Given the description of an element on the screen output the (x, y) to click on. 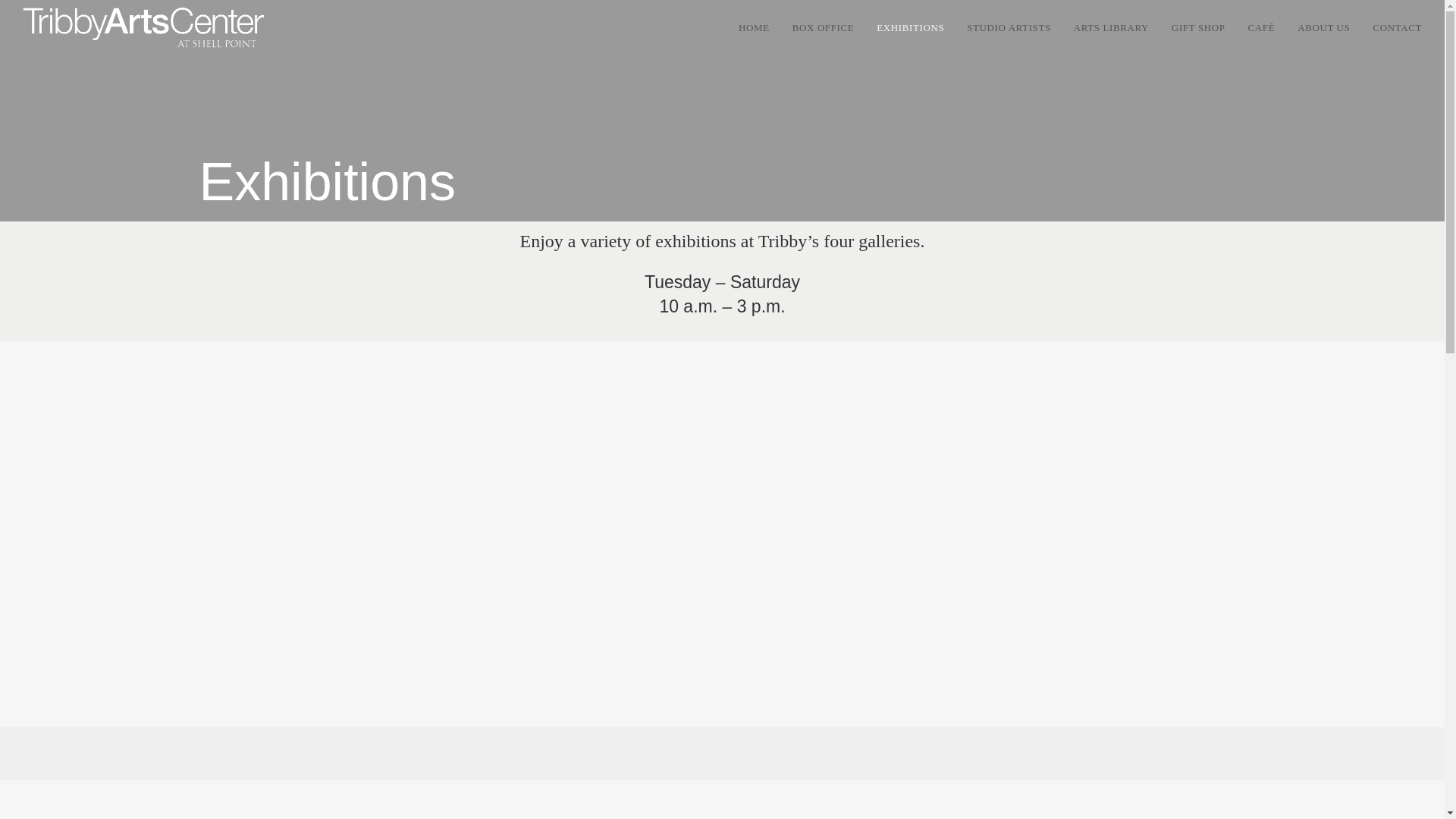
STUDIO ARTISTS (1008, 28)
BOX OFFICE (823, 28)
GIFT SHOP (1198, 28)
EXHIBITIONS (909, 28)
CONTACT (1396, 28)
ARTS LIBRARY (1111, 28)
HOME (753, 28)
ABOUT US (1323, 28)
